Given the description of an element on the screen output the (x, y) to click on. 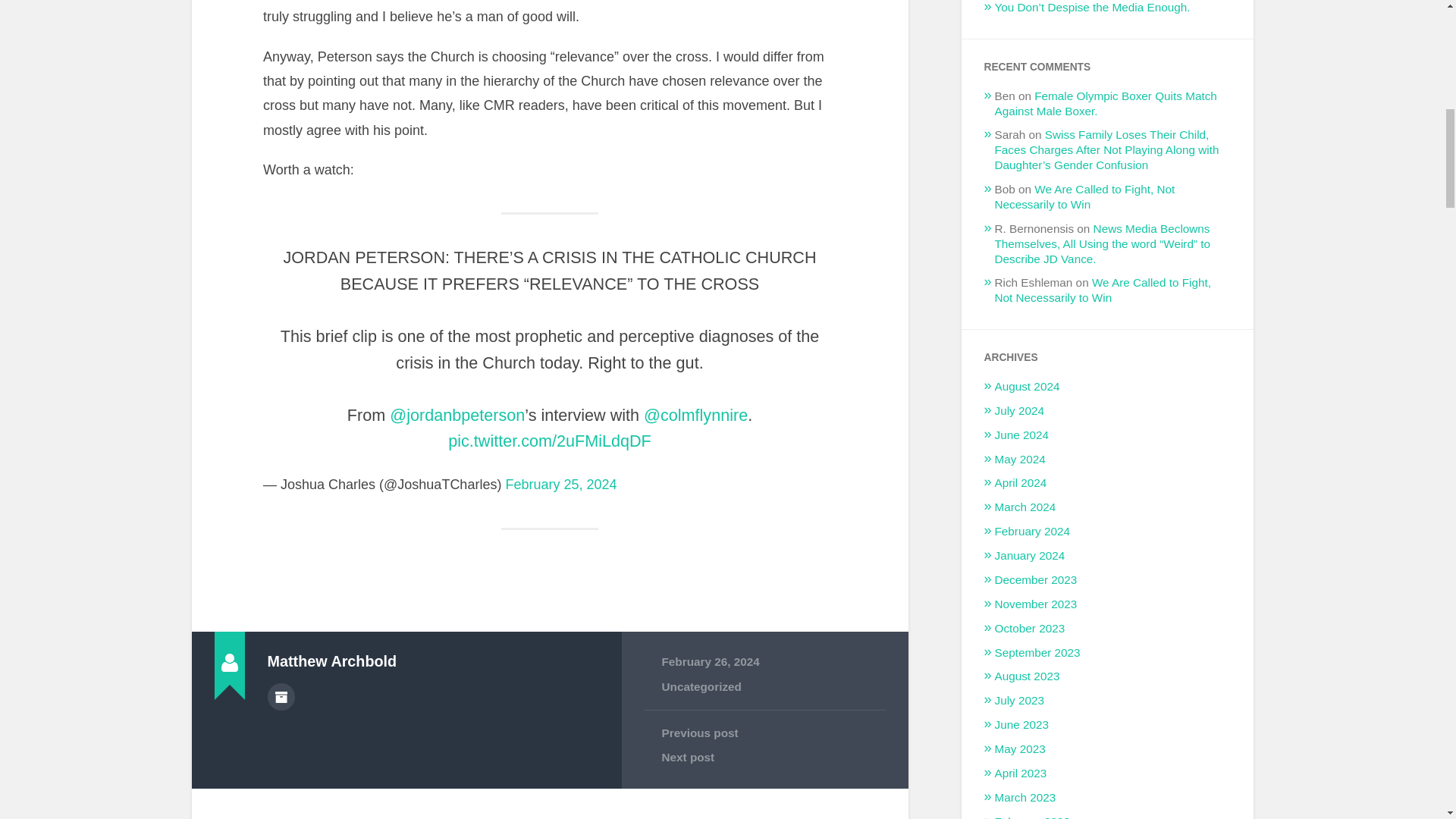
Next post (765, 757)
February 25, 2024 (560, 484)
Uncategorized (701, 686)
Author archive (280, 696)
Previous post (765, 733)
